Given the description of an element on the screen output the (x, y) to click on. 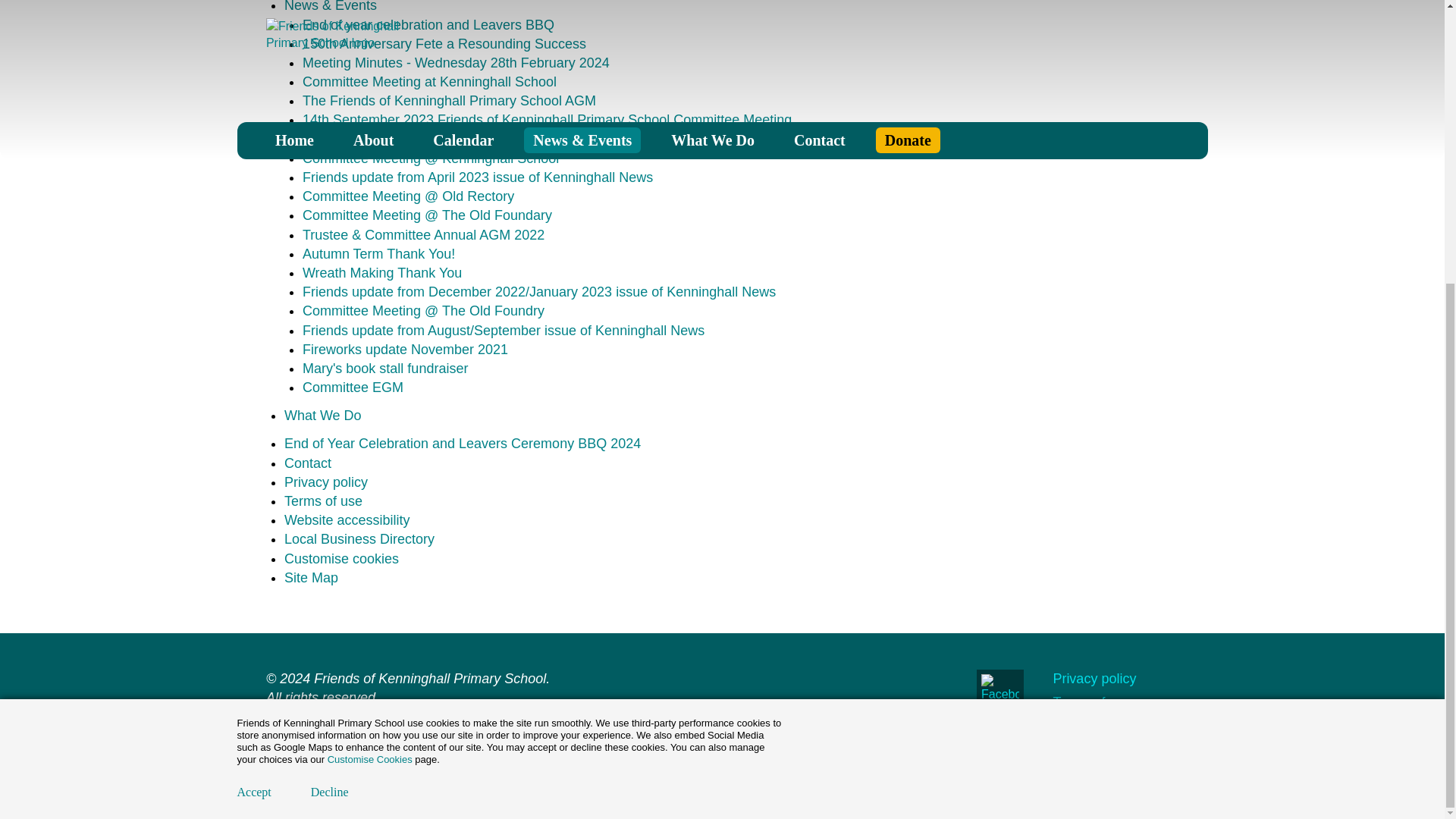
The Friends of Kenninghall Primary School AGM (448, 100)
End of year celebration and Leavers BBQ (428, 24)
Meeting Minutes - Wednesday 28th February 2024 (456, 62)
What We Do (322, 415)
Committee Meeting at Kenninghall School (429, 81)
Contact (307, 462)
Friends update from April 2023 issue of Kenninghall News (477, 177)
Committee EGM (352, 387)
150th Anniversary Fete a Resounding Success (444, 43)
Fireworks update November 2021 (405, 349)
Autumn Term Thank You! (378, 253)
Privacy policy (325, 482)
End of Year Celebration and Leavers Ceremony BBQ 2024 (461, 443)
Mary's book stall fundraiser (385, 368)
Wreath Making Thank You (381, 272)
